Given the description of an element on the screen output the (x, y) to click on. 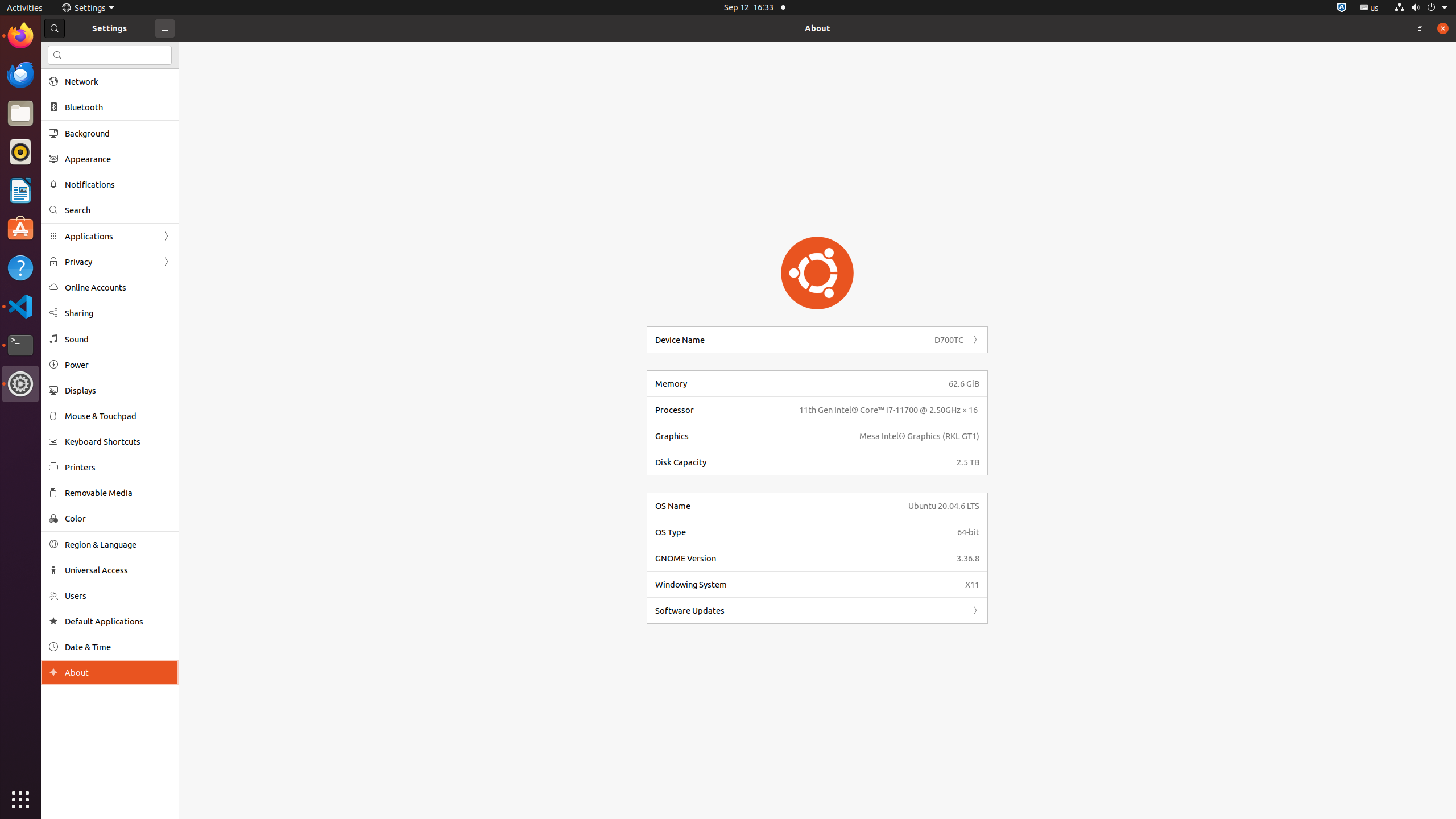
Mesa Intel® Graphics (RKL GT1) Element type: label (919, 435)
Restore Element type: push-button (1419, 27)
IsaHelpMain.desktop Element type: label (75, 170)
luyi1 Element type: label (75, 50)
About Element type: icon (53, 672)
